Given the description of an element on the screen output the (x, y) to click on. 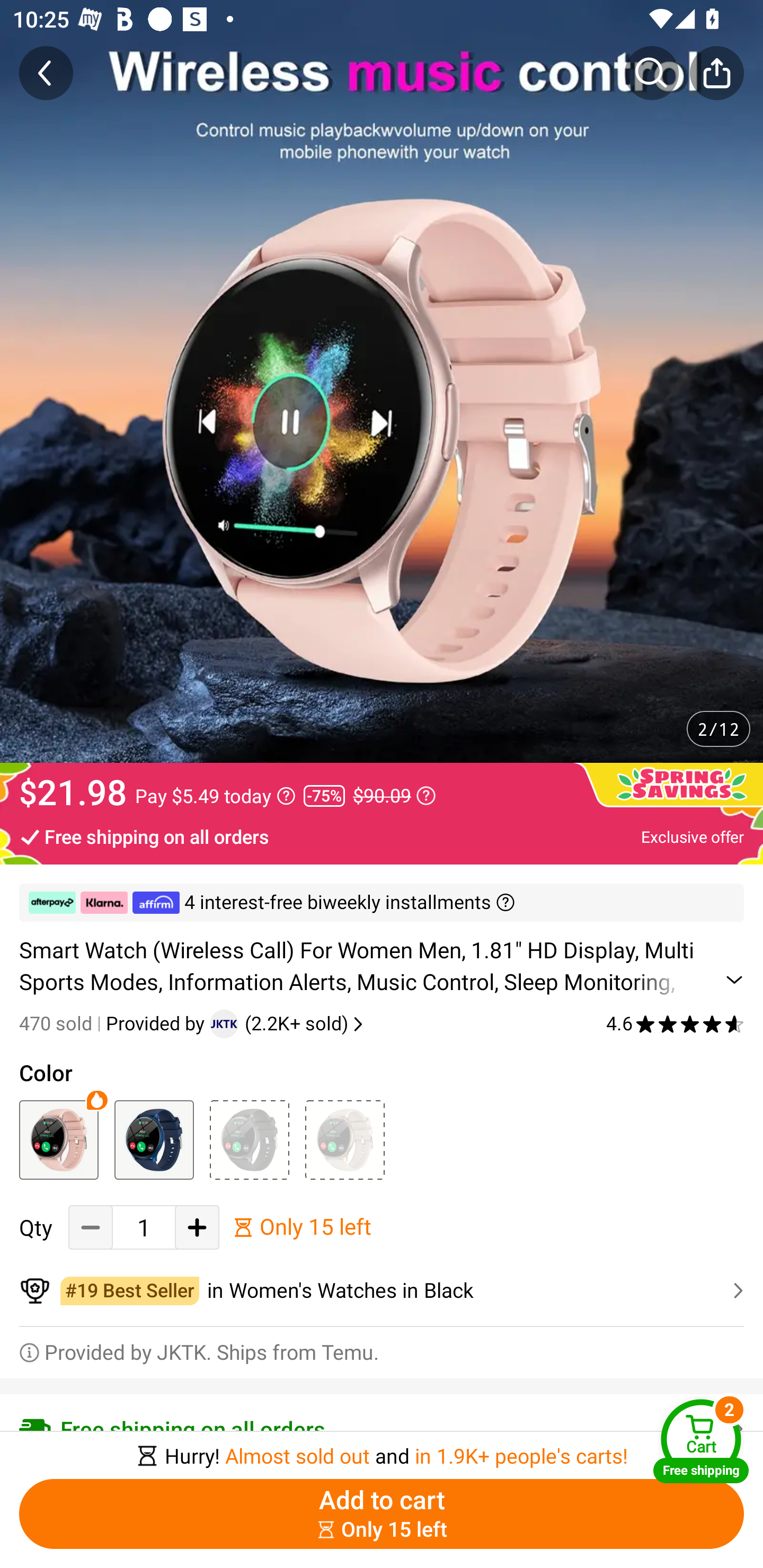
Back (46, 72)
Share (716, 72)
Pay $5.49 today   (215, 795)
Free shipping on all orders Exclusive offer (381, 836)
￼ ￼ ￼ 4 interest-free biweekly installments ￼ (381, 902)
470 sold Provided by  (114, 1023)
4.6 (674, 1023)
pink   (58, 1139)
Blue (153, 1139)
Black (249, 1139)
Golden (344, 1139)
Decrease Quantity Button (90, 1227)
1 (143, 1227)
Add Quantity button (196, 1227)
￼￼in Women's Watches in Black (381, 1290)
Cart Free shipping Cart (701, 1440)
Add to cart ￼￼Only 15 left (381, 1513)
